Given the description of an element on the screen output the (x, y) to click on. 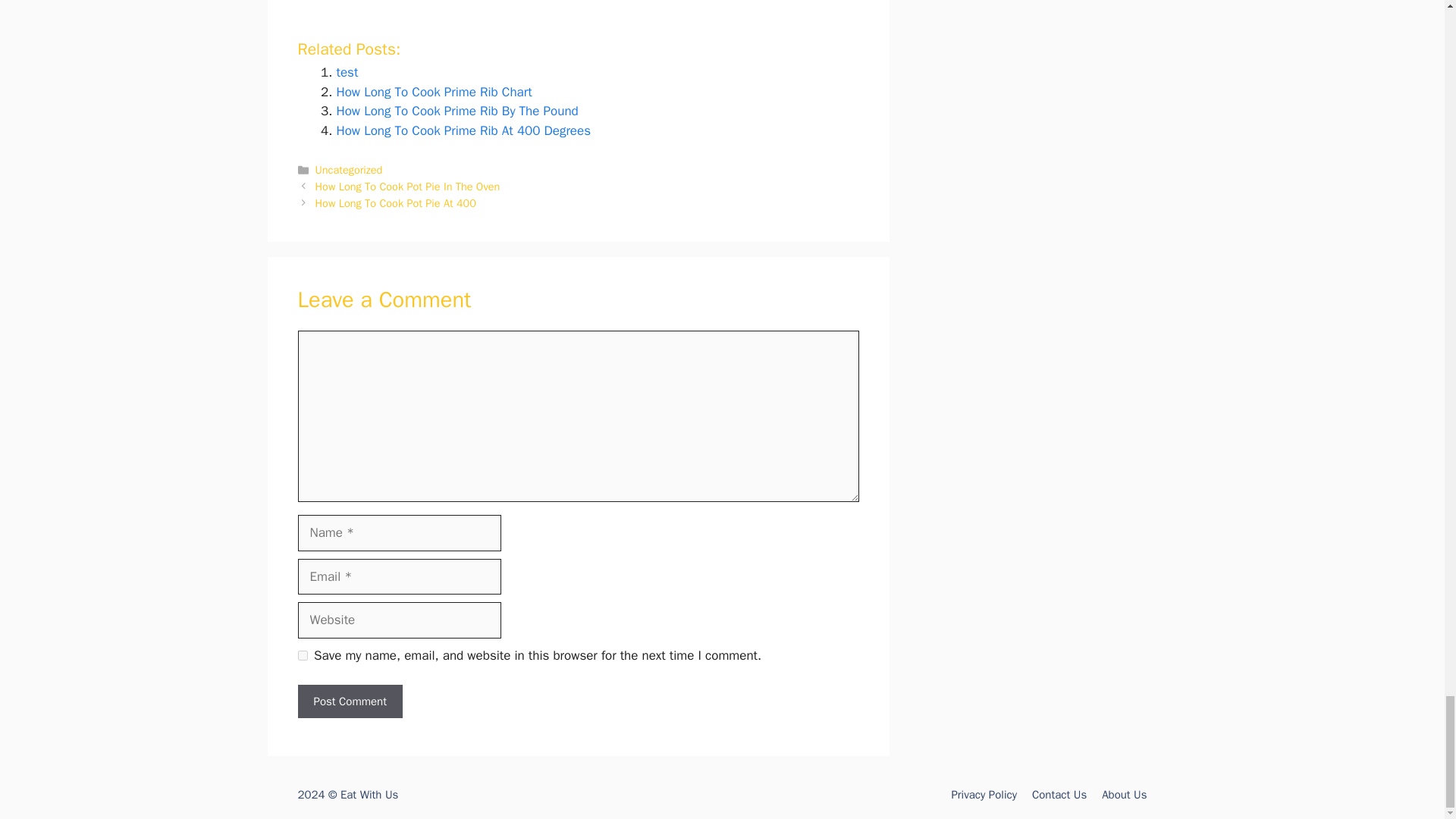
How Long To Cook Prime Rib By The Pound (457, 110)
test (347, 72)
How Long To Cook Prime Rib At 400 Degrees (463, 130)
yes (302, 655)
Post Comment (349, 701)
Contact Us (1059, 794)
Privacy Policy (983, 794)
test (347, 72)
How Long To Cook Prime Rib Chart (434, 91)
How Long To Cook Prime Rib Chart (434, 91)
